Given the description of an element on the screen output the (x, y) to click on. 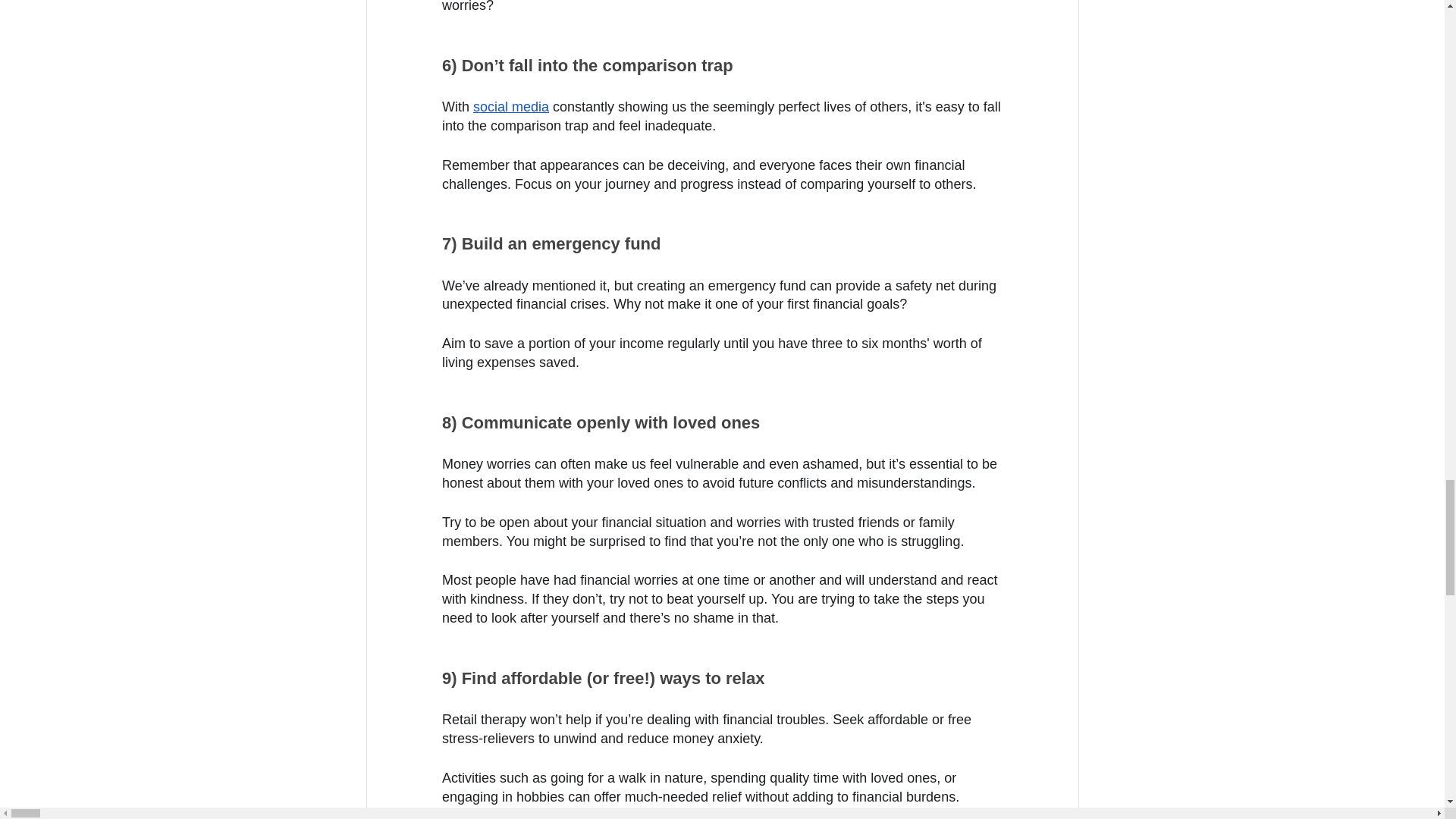
social media (510, 106)
